Given the description of an element on the screen output the (x, y) to click on. 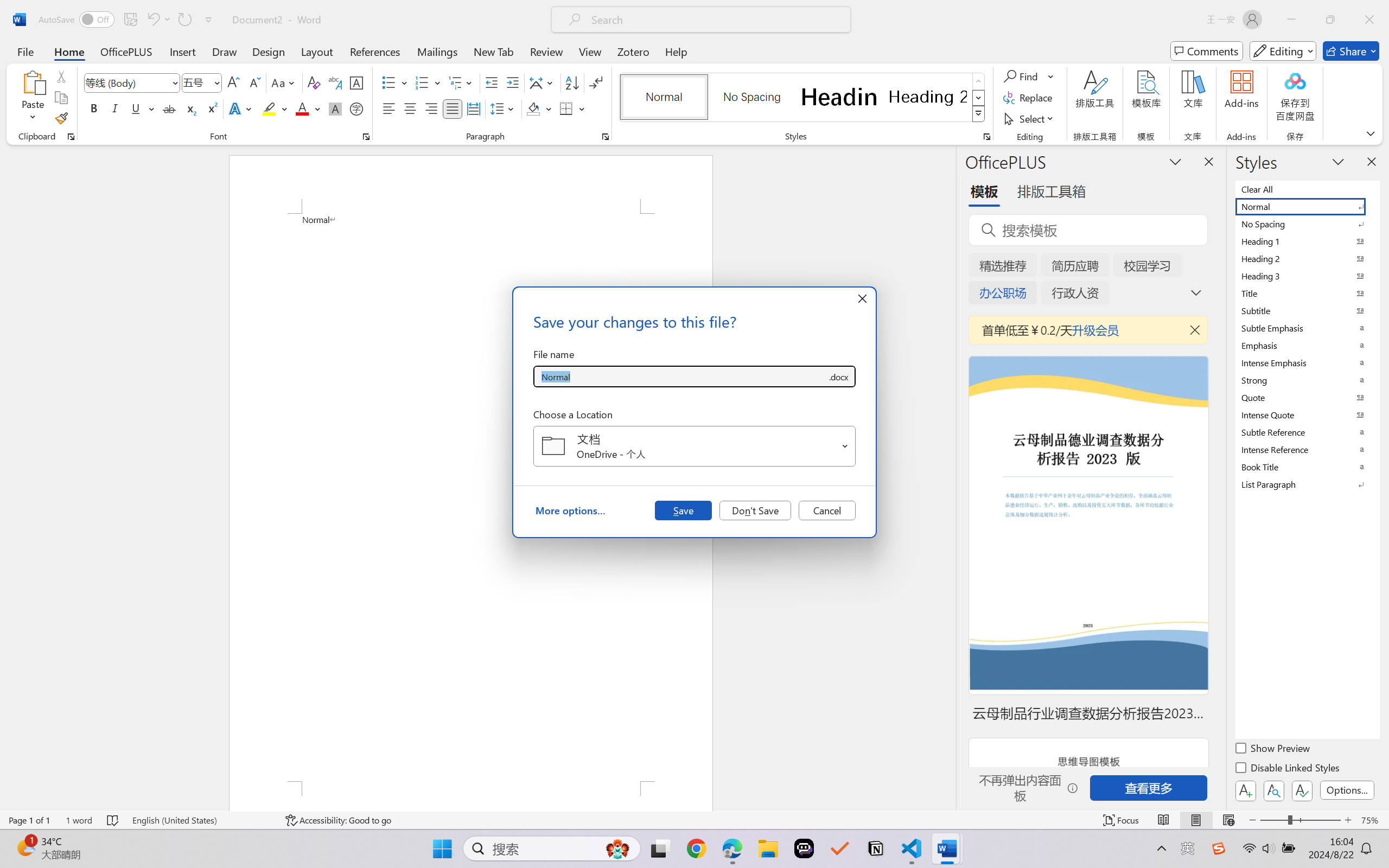
Distributed (473, 108)
More Options (1051, 75)
Bold (94, 108)
Bullets (388, 82)
Phonetic Guide... (334, 82)
Class: NetUIImage (978, 114)
Book Title (1306, 466)
Clear Formatting (313, 82)
Insert (182, 51)
Disable Linked Styles (1287, 769)
Title (1306, 293)
